Given the description of an element on the screen output the (x, y) to click on. 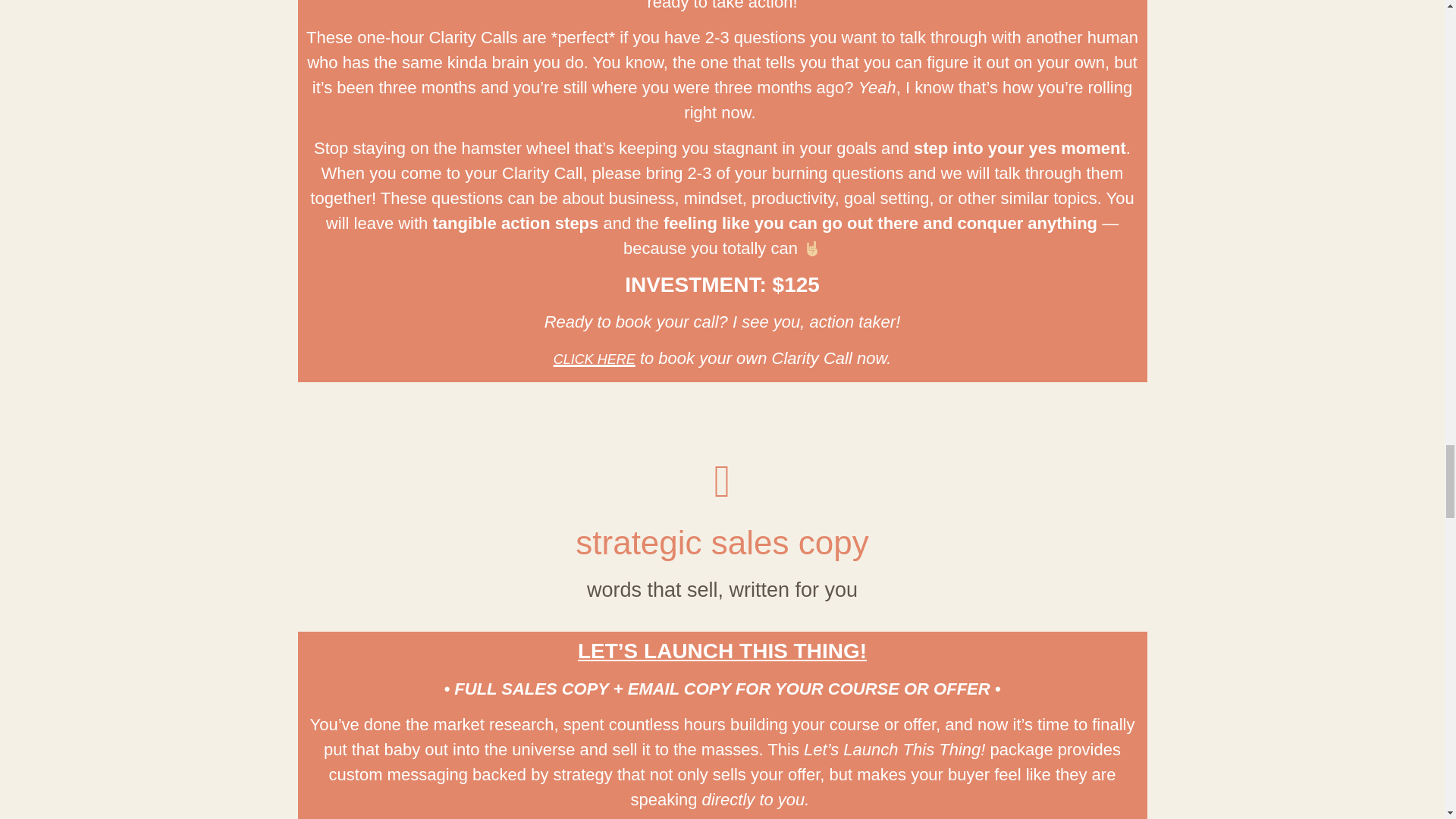
CLICK HERE (593, 359)
